Given the description of an element on the screen output the (x, y) to click on. 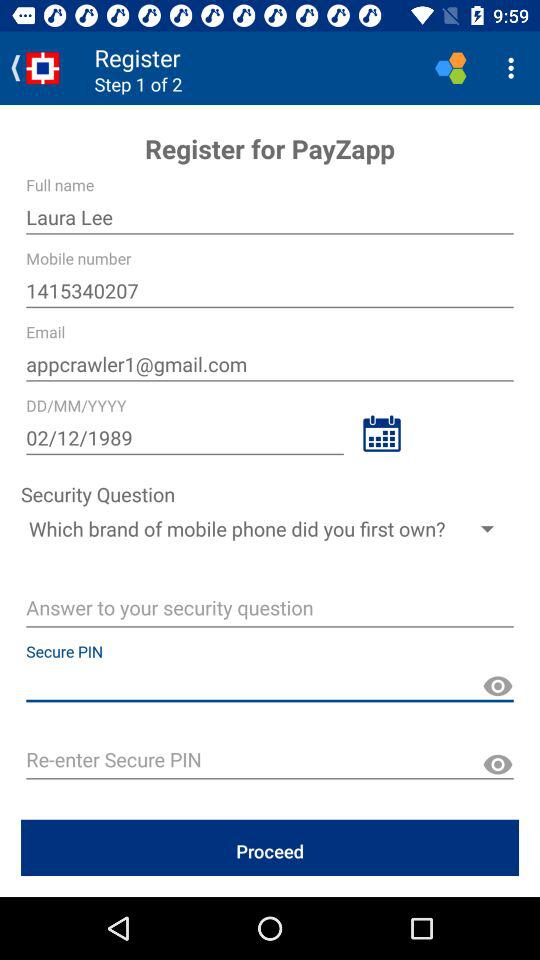
reenter pin (270, 762)
